Given the description of an element on the screen output the (x, y) to click on. 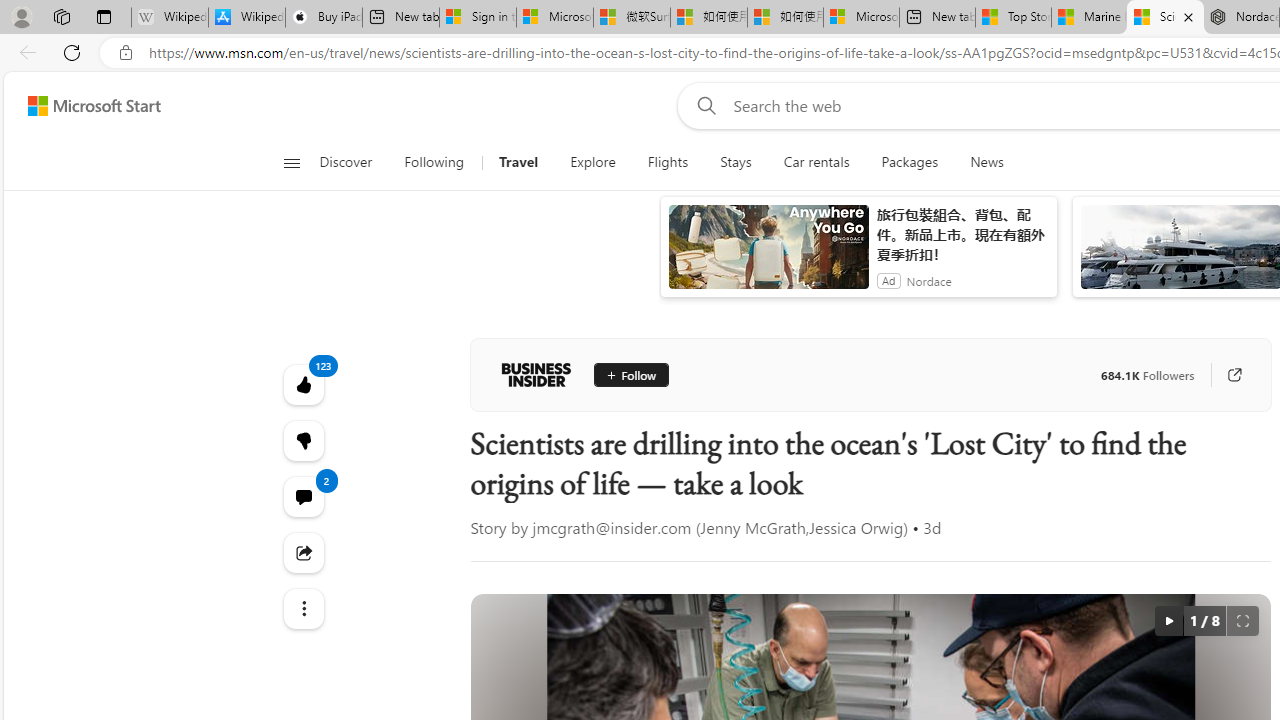
Packages (909, 162)
